Given the description of an element on the screen output the (x, y) to click on. 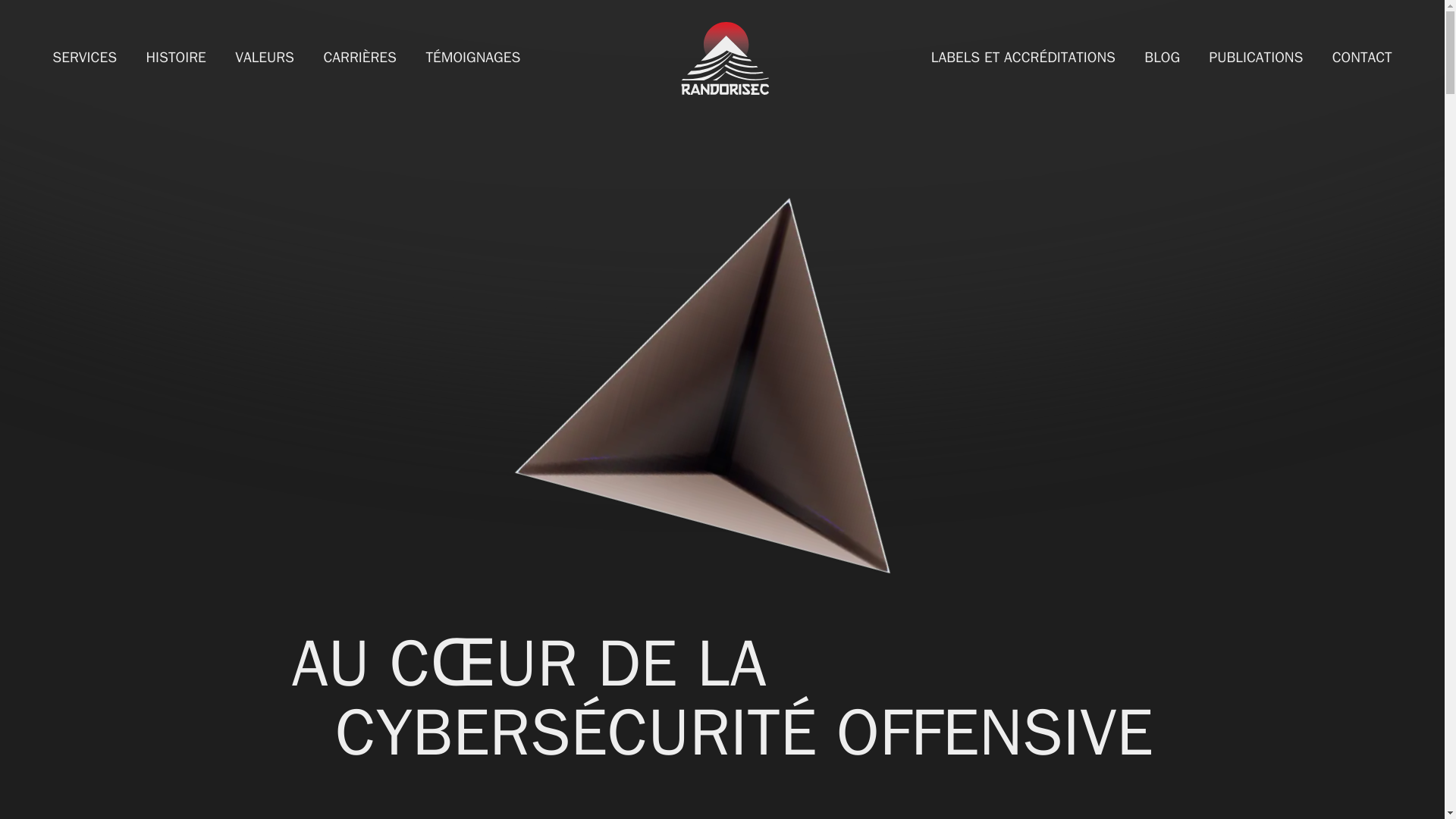
Histoire (175, 57)
BLOG (1161, 57)
Valeurs (264, 57)
Publications (1255, 57)
Services (84, 57)
VALEURS (264, 57)
CONTACT (1361, 57)
Blog (1161, 57)
PUBLICATIONS (1255, 57)
SERVICES (84, 57)
